Given the description of an element on the screen output the (x, y) to click on. 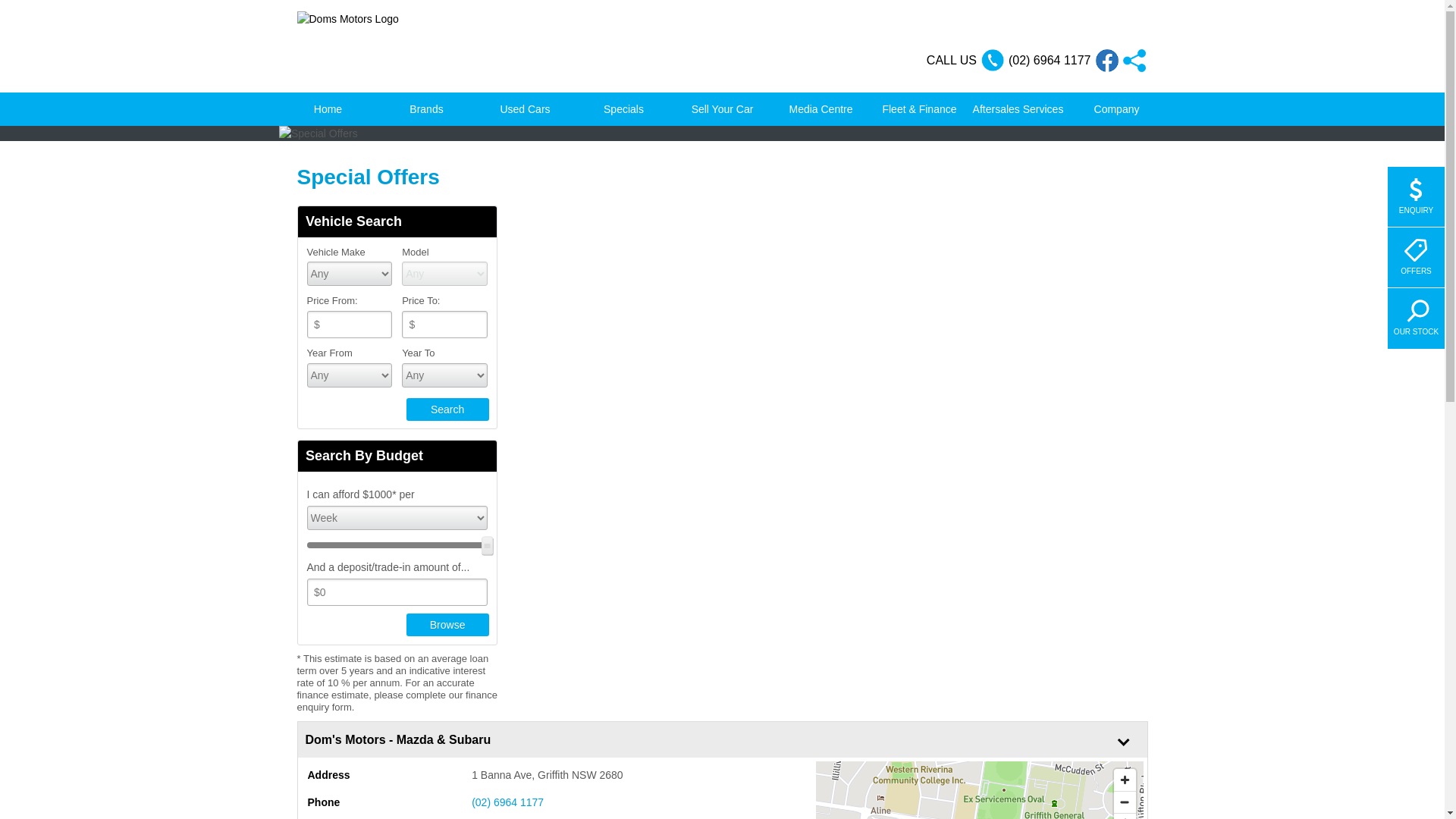
Aftersales Services Element type: text (1018, 108)
OUR STOCK Element type: text (1415, 318)
(02) 6964 1177 Element type: text (1049, 59)
Browse Element type: text (447, 624)
Zoom out Element type: hover (1124, 801)
Zoom in Element type: hover (1124, 779)
OFFERS Element type: text (1415, 257)
Sell Your Car Element type: text (722, 108)
Specials Element type: text (623, 108)
Brands Element type: text (426, 108)
Fleet & Finance Element type: text (919, 108)
Home Element type: text (328, 108)
Media Centre Element type: text (820, 108)
(02) 6964 1177 Element type: text (635, 801)
Search Element type: text (447, 409)
Used Cars Element type: text (525, 108)
Company Element type: text (1116, 108)
Dom's Motors - Mazda & Subaru Element type: text (679, 729)
ENQUIRY Element type: text (1415, 196)
